Given the description of an element on the screen output the (x, y) to click on. 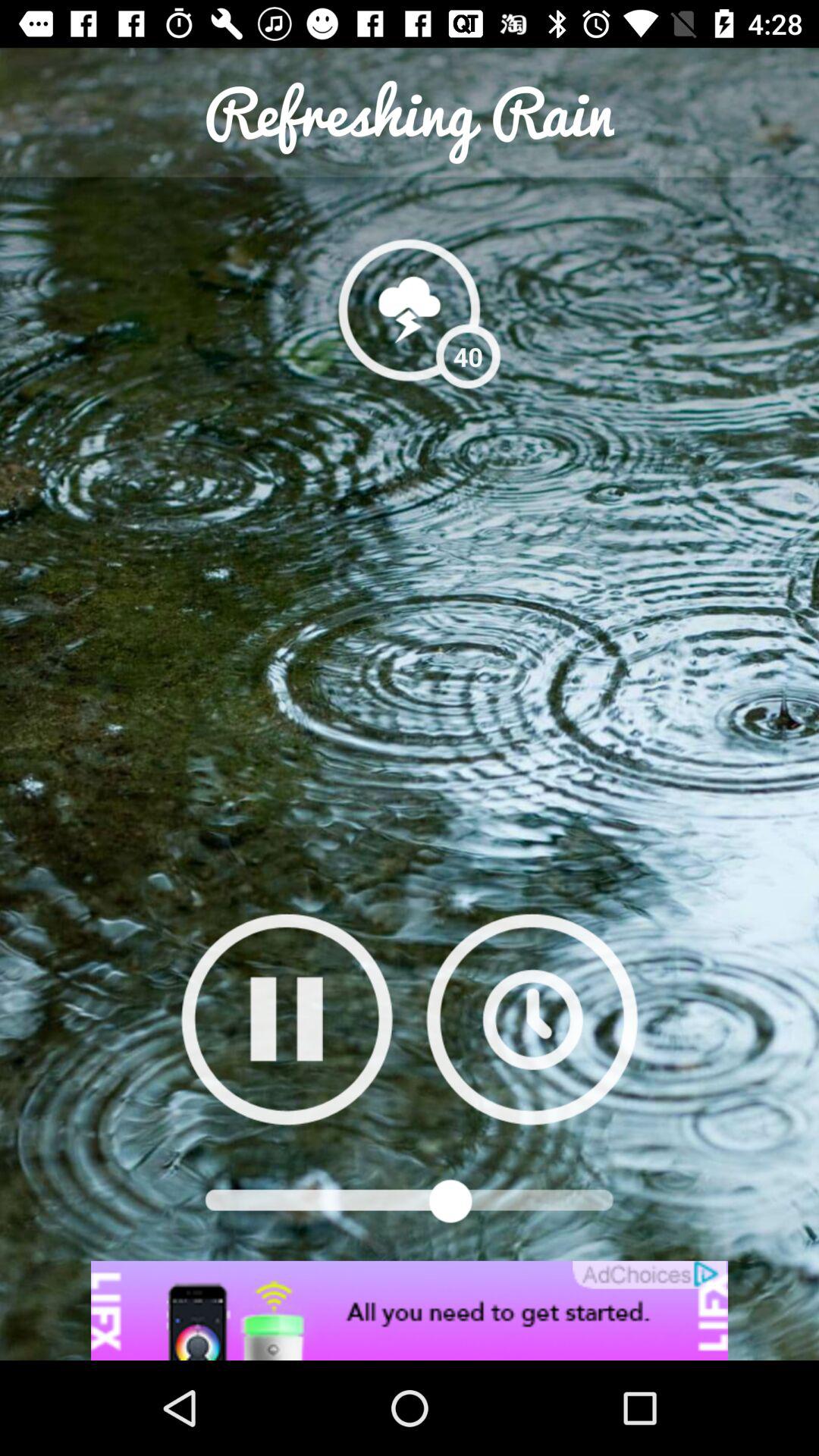
to go youtube (286, 1018)
